Given the description of an element on the screen output the (x, y) to click on. 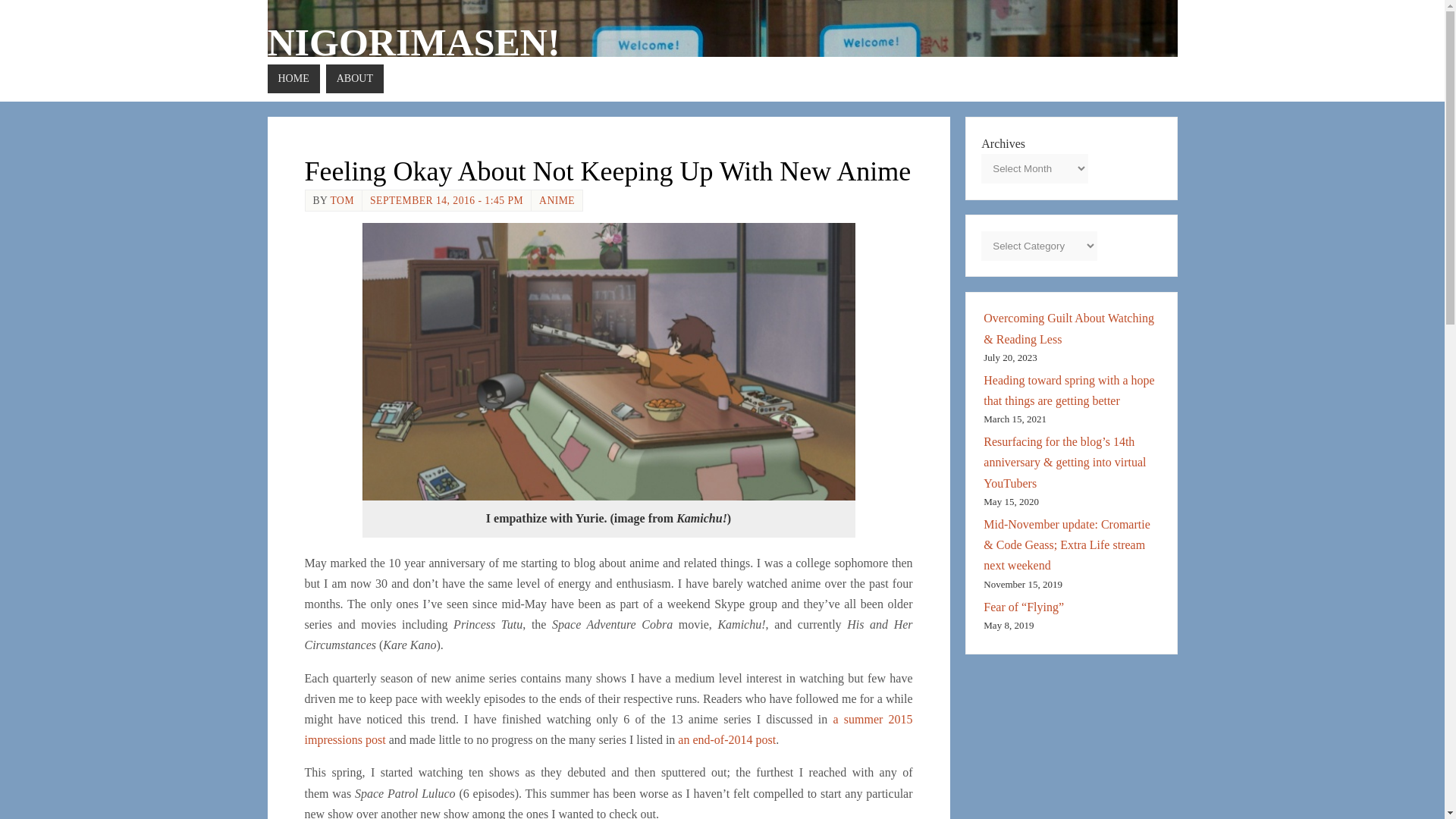
ANIME (556, 200)
an end-of-2014 post (727, 739)
a summer 2015 impressions post (608, 729)
HOME (292, 78)
View all posts by Tom (341, 200)
ABOUT (355, 78)
TOM (341, 200)
SEPTEMBER 14, 2016 - 1:45 PM (445, 200)
